Given the description of an element on the screen output the (x, y) to click on. 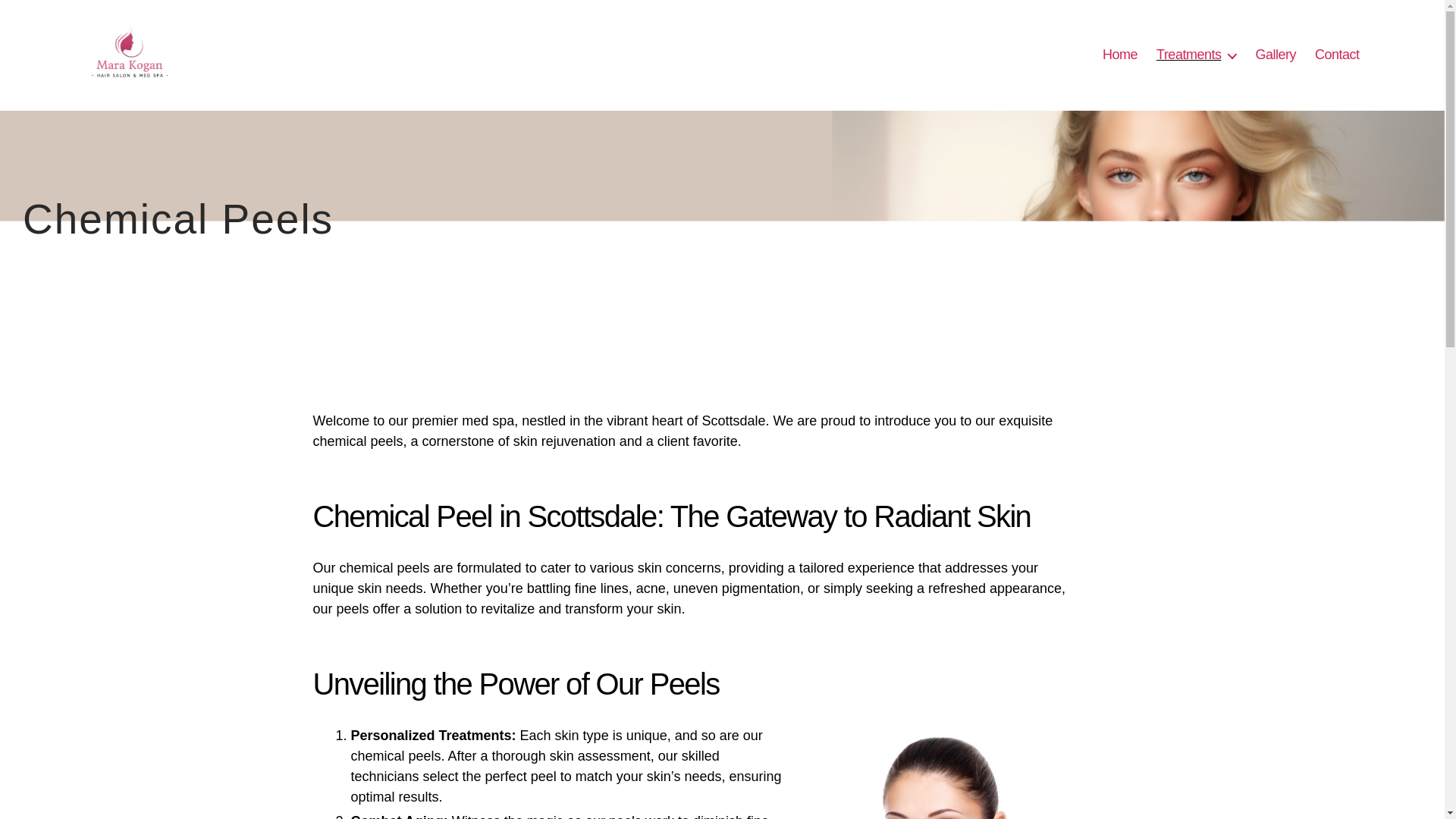
Gallery (1275, 54)
Treatments (1196, 54)
Home (1119, 54)
Contact (1336, 54)
